Given the description of an element on the screen output the (x, y) to click on. 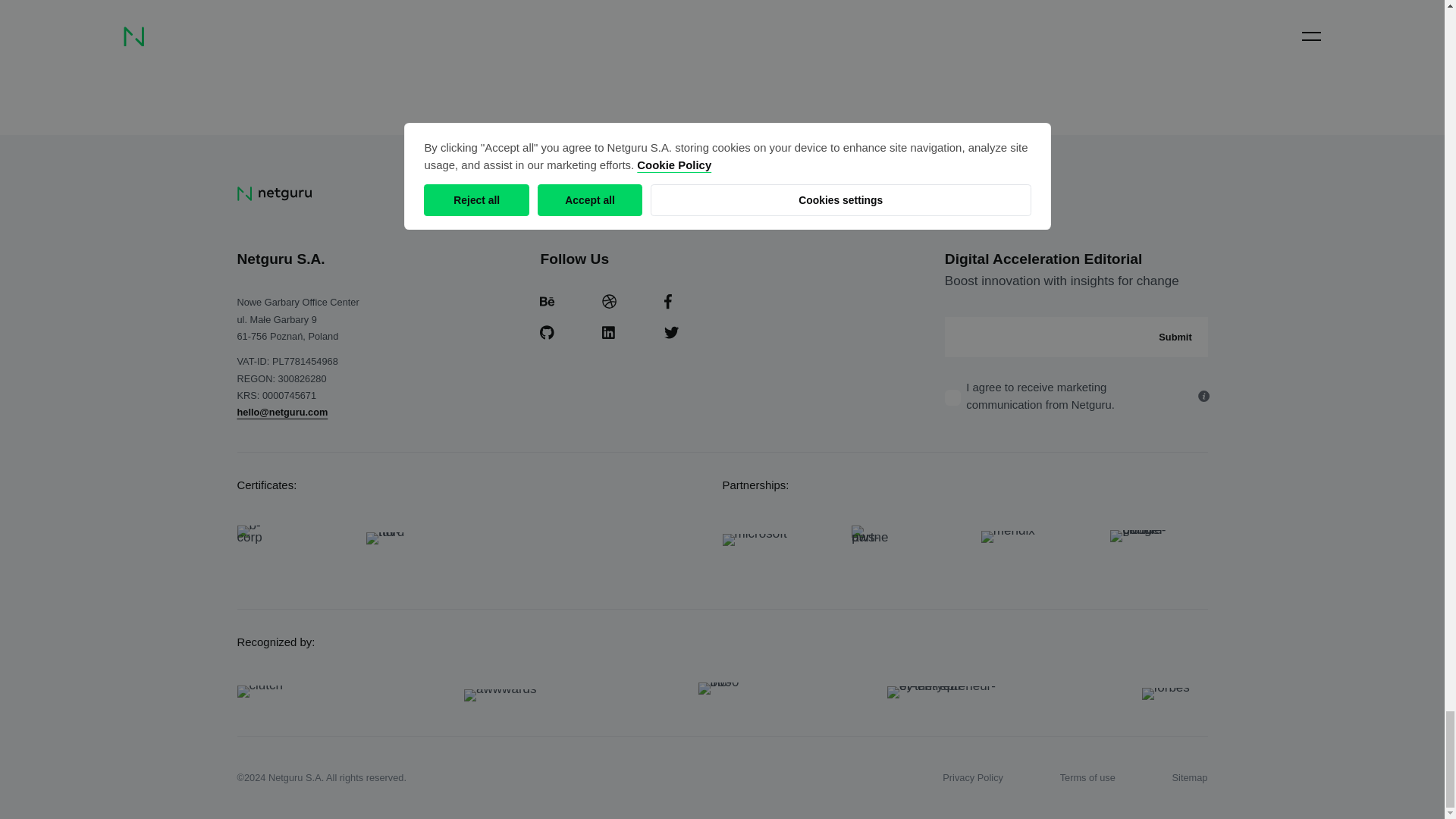
Submit (1174, 336)
